Given the description of an element on the screen output the (x, y) to click on. 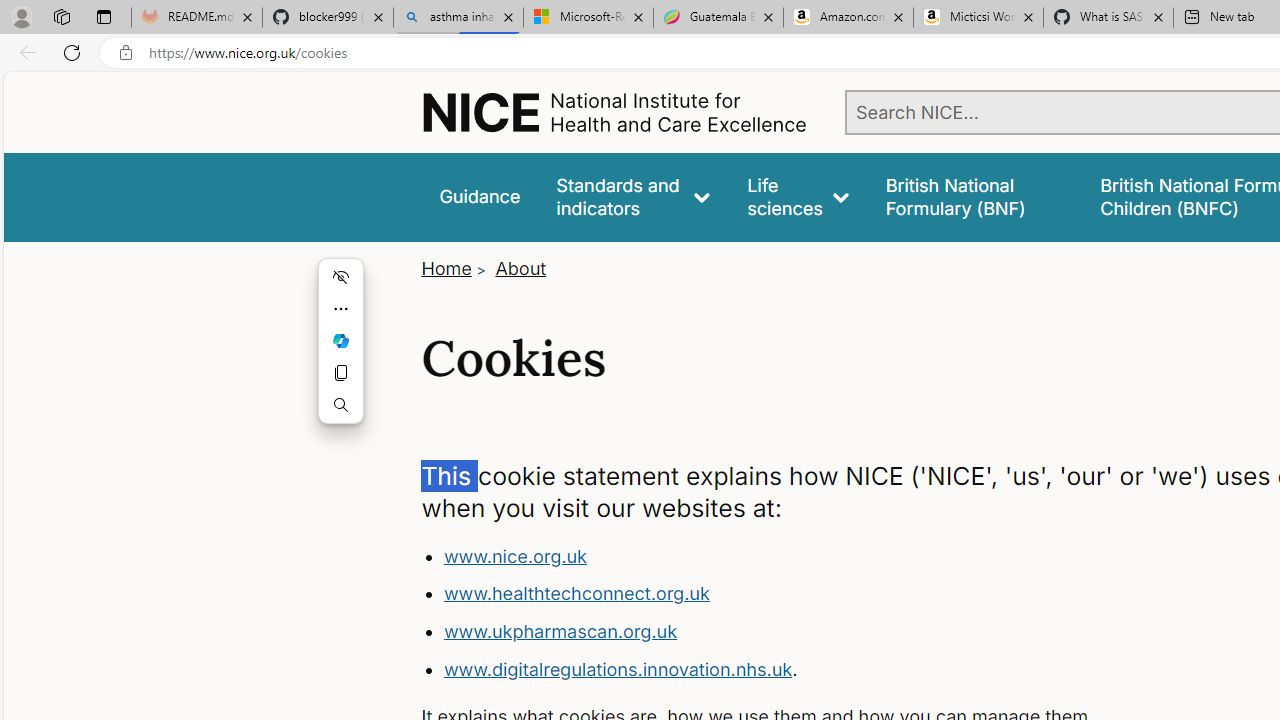
Mini menu on text selection (340, 341)
Ask Copilot (340, 340)
www.ukpharmascan.org.uk (560, 631)
Copy (340, 372)
www.healthtechconnect.org.uk (818, 594)
Mini menu on text selection (340, 352)
www.ukpharmascan.org.uk (818, 632)
